Given the description of an element on the screen output the (x, y) to click on. 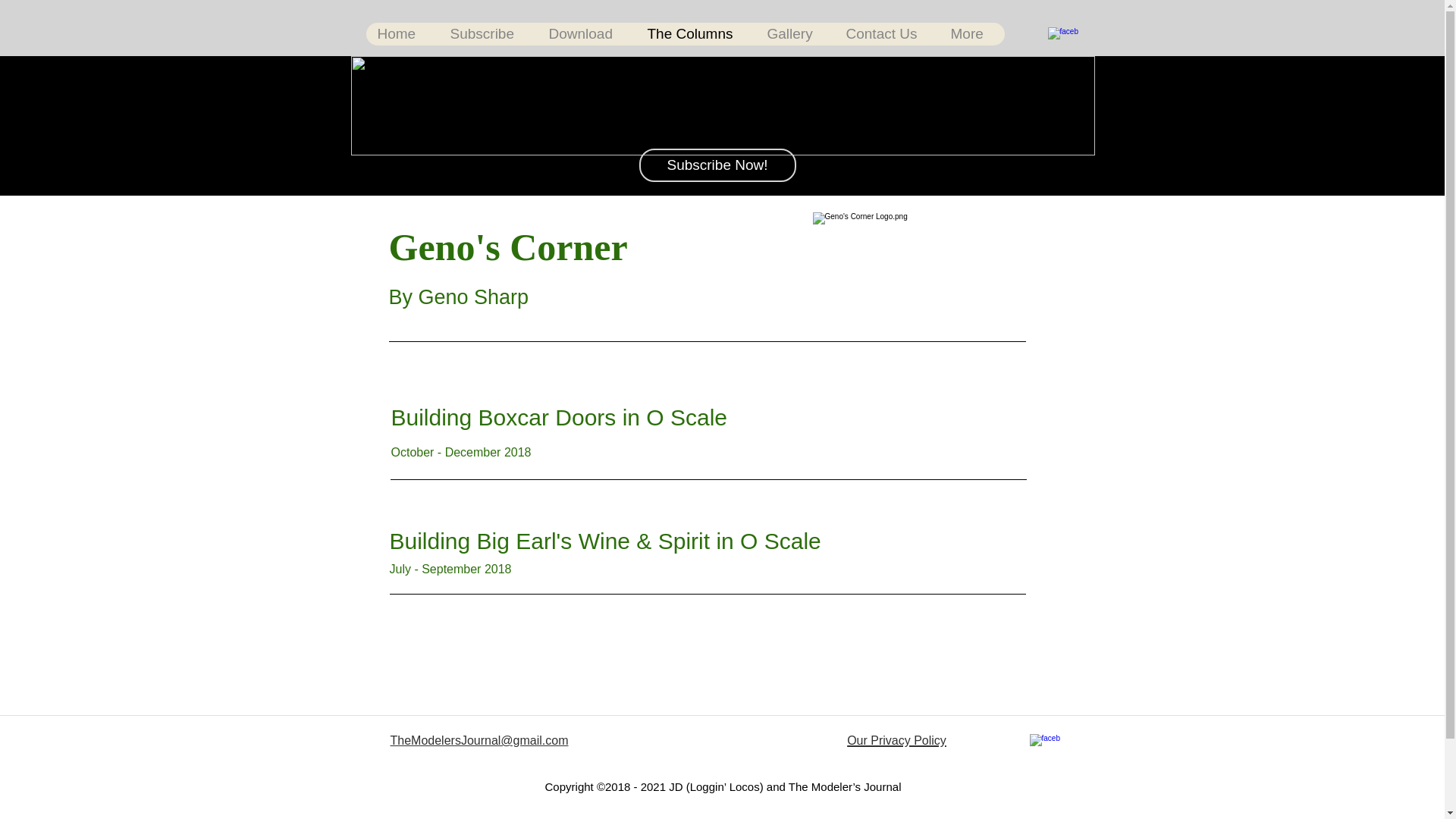
Gallery (794, 33)
By Geno Sharp (458, 296)
Building Boxcar Doors in O Scale  (562, 416)
Subscribe (487, 33)
The Columns (694, 33)
Subscribe Now! (716, 164)
Home (401, 33)
Our Privacy Policy (896, 739)
Contact Us (886, 33)
